Given the description of an element on the screen output the (x, y) to click on. 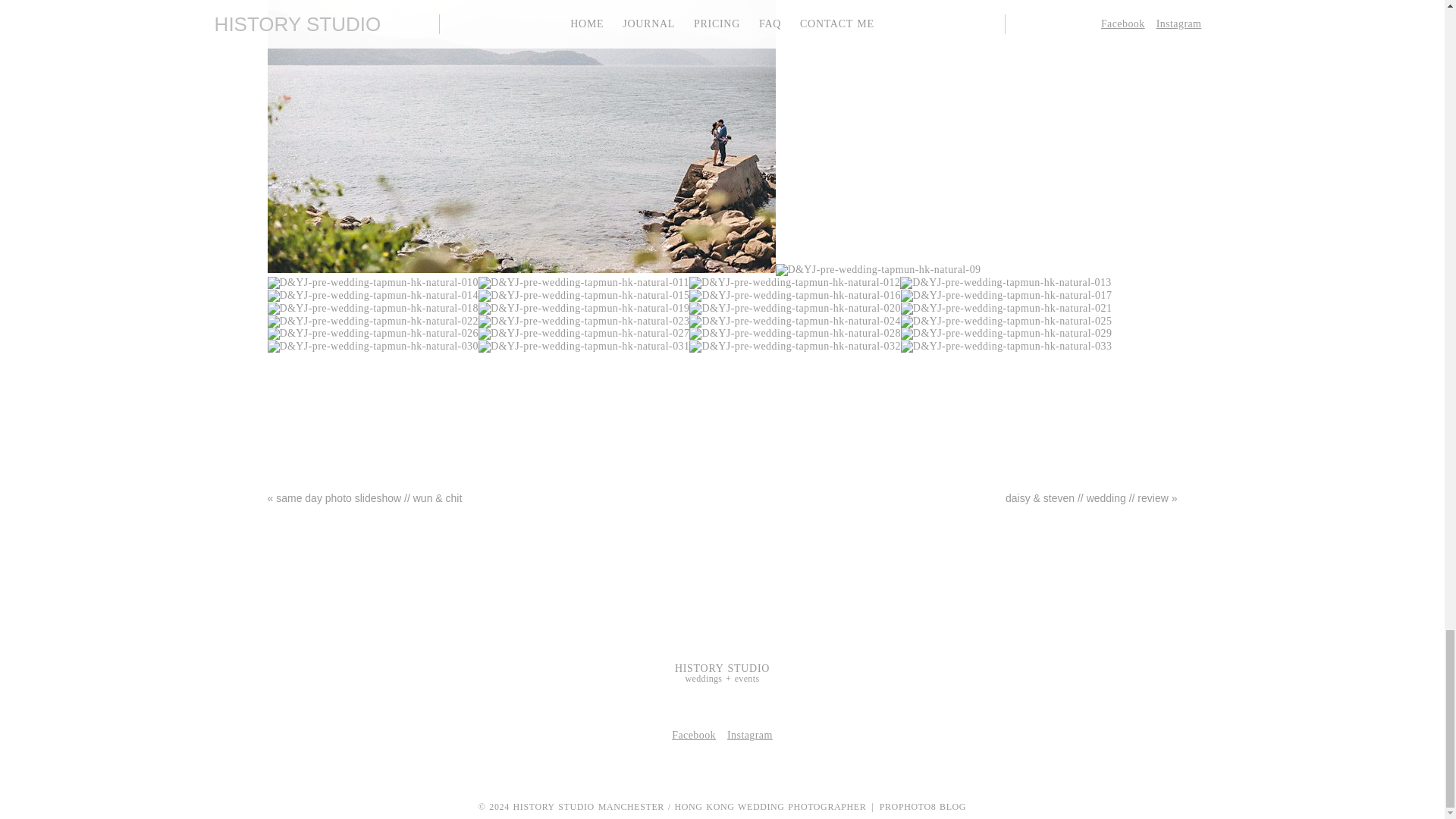
PROPHOTO8 BLOG (922, 806)
Instagram (749, 735)
Facebook (693, 735)
ProPhoto theme (922, 806)
